Given the description of an element on the screen output the (x, y) to click on. 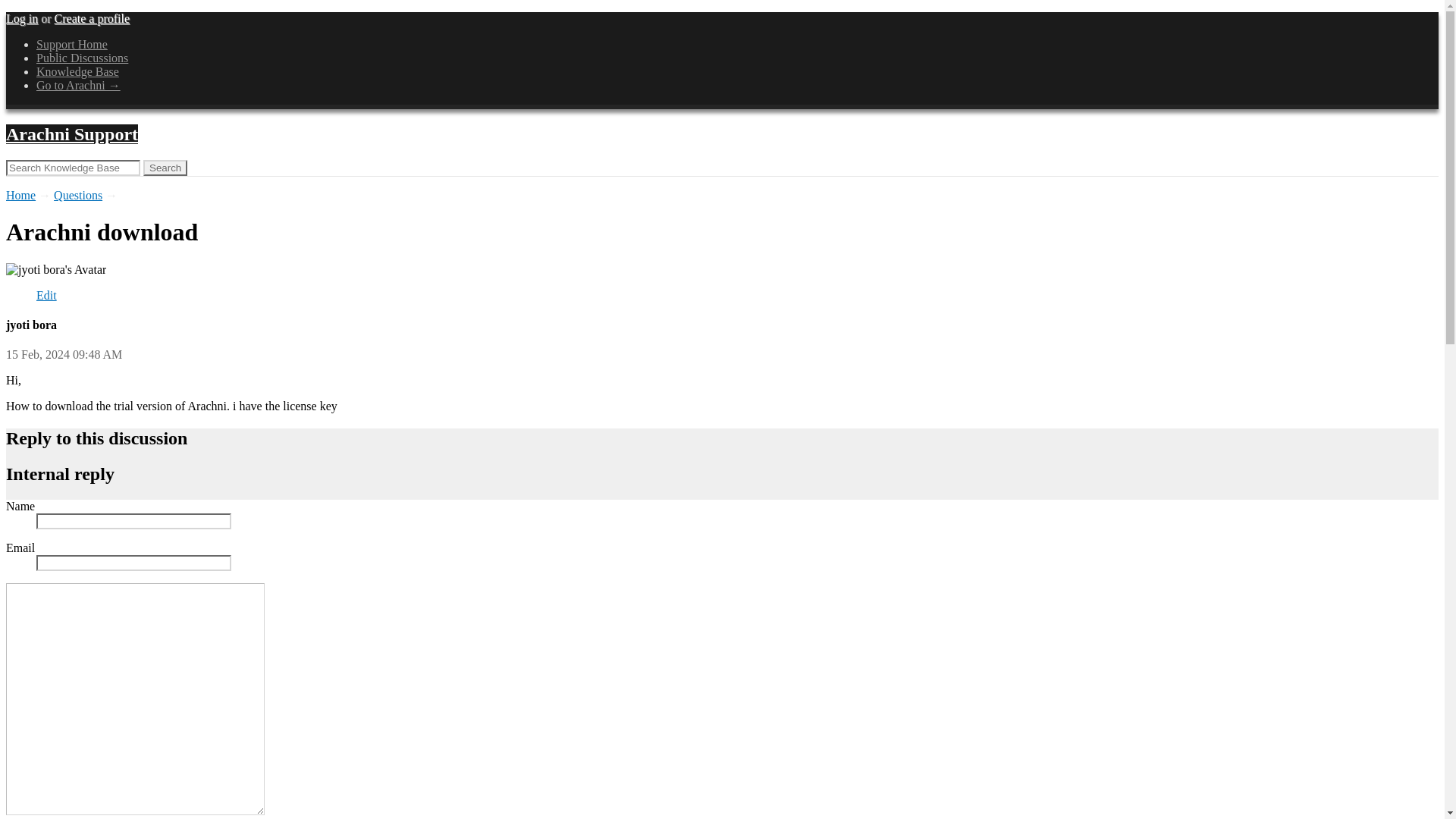
Log in (21, 18)
Knowledge Base (77, 71)
15 Feb, 2024 09:48 AM (63, 354)
Edit (46, 295)
Arachni Support (71, 134)
Support Home (71, 43)
Create a profile (93, 18)
Questions (77, 195)
Public Discussions (82, 57)
Home (19, 195)
Search (164, 167)
